Given the description of an element on the screen output the (x, y) to click on. 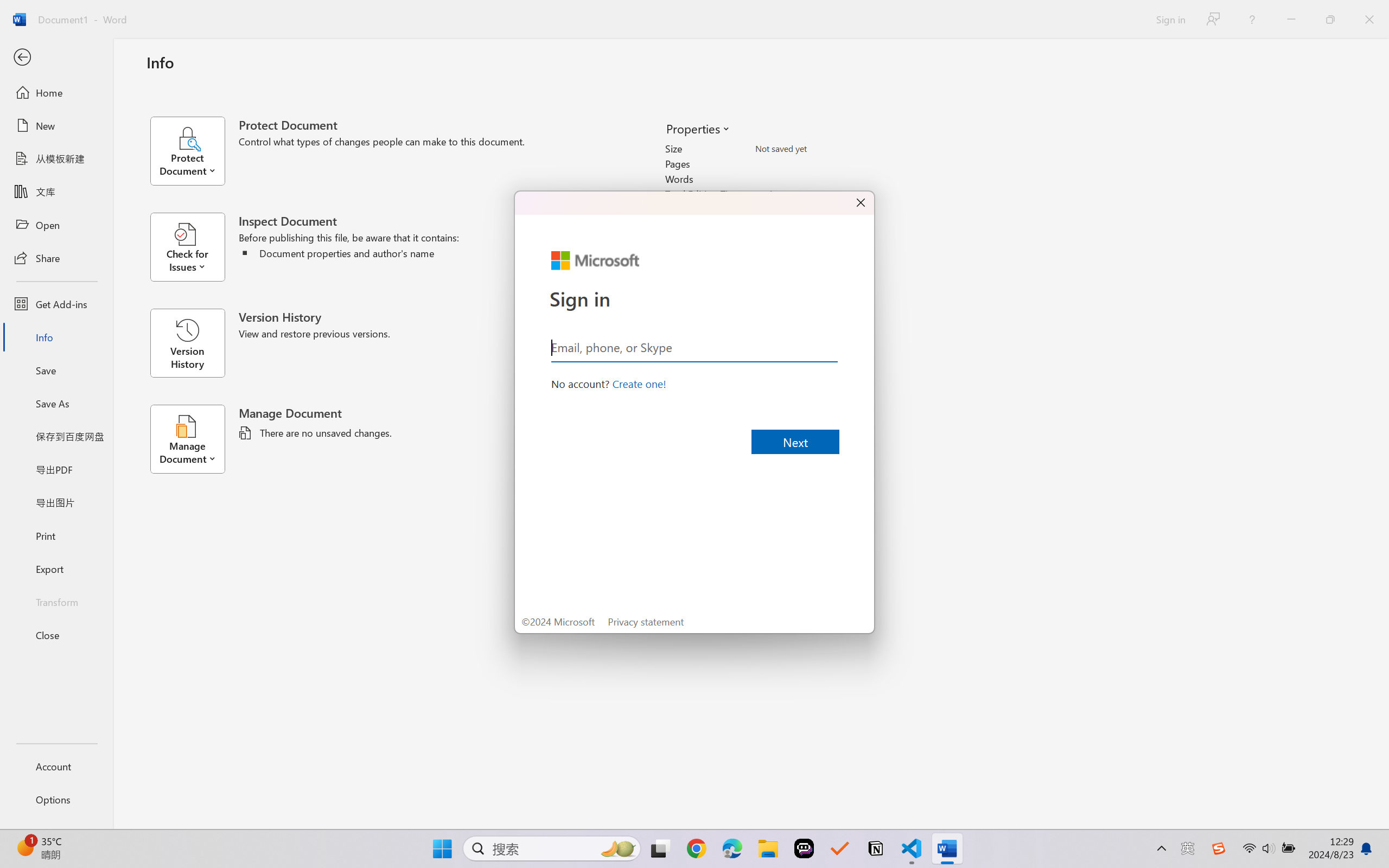
Version History (187, 343)
Options (56, 798)
Protect Document (194, 150)
Save As (56, 403)
Account (56, 765)
